Given the description of an element on the screen output the (x, y) to click on. 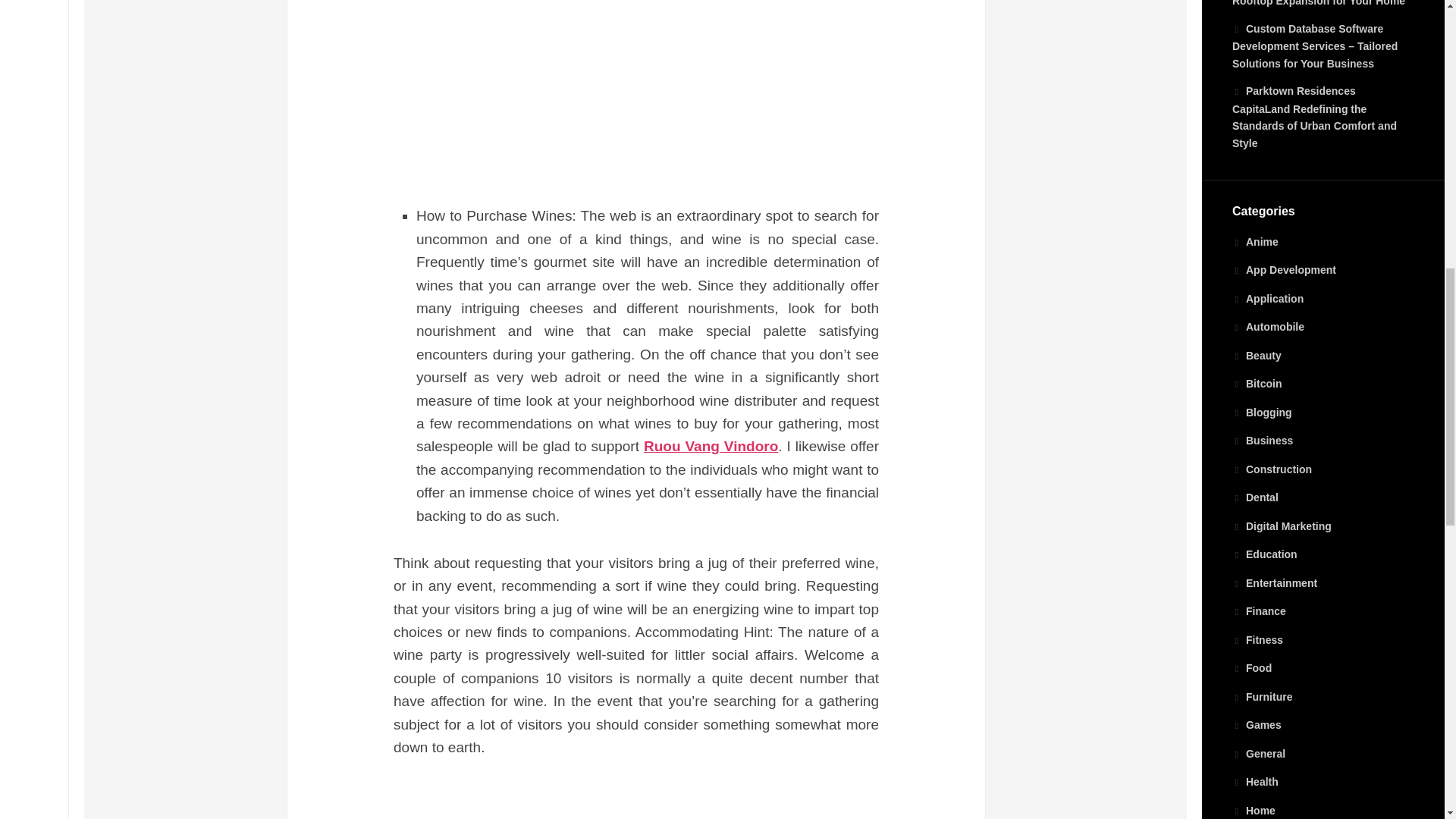
Construction (1271, 469)
Digital Marketing (1281, 526)
Games (1256, 725)
App Development (1283, 269)
Education (1264, 553)
Automobile (1267, 326)
Blogging (1261, 412)
Dental (1254, 497)
Home (1253, 810)
Anime (1254, 241)
Entertainment (1274, 582)
Furniture (1261, 696)
Application (1267, 298)
General (1258, 753)
